Given the description of an element on the screen output the (x, y) to click on. 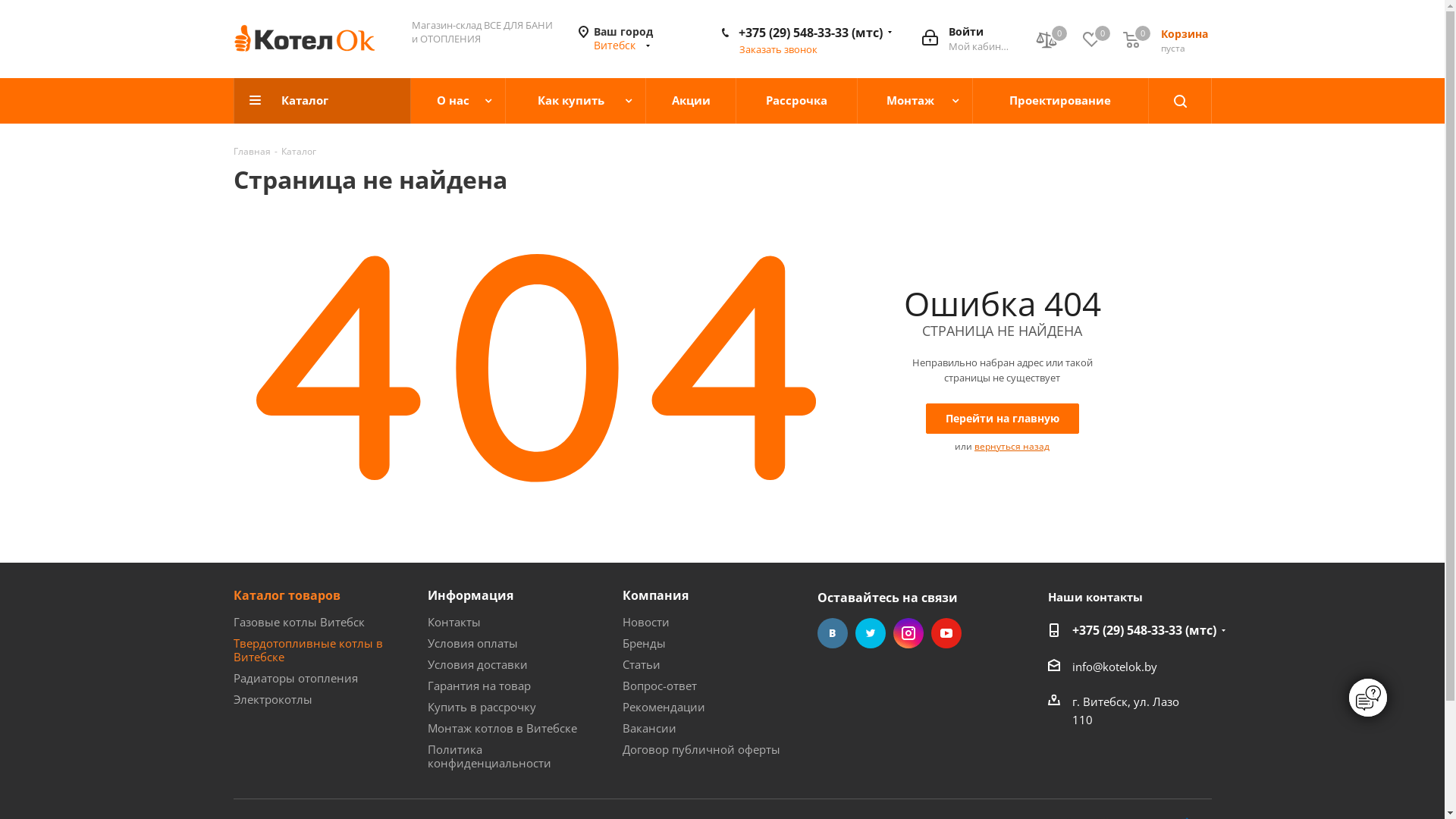
Twitter Element type: text (870, 633)
YouTube Element type: text (946, 633)
info@kotelok.by Element type: text (1114, 666)
Instagram Element type: text (908, 633)
